Given the description of an element on the screen output the (x, y) to click on. 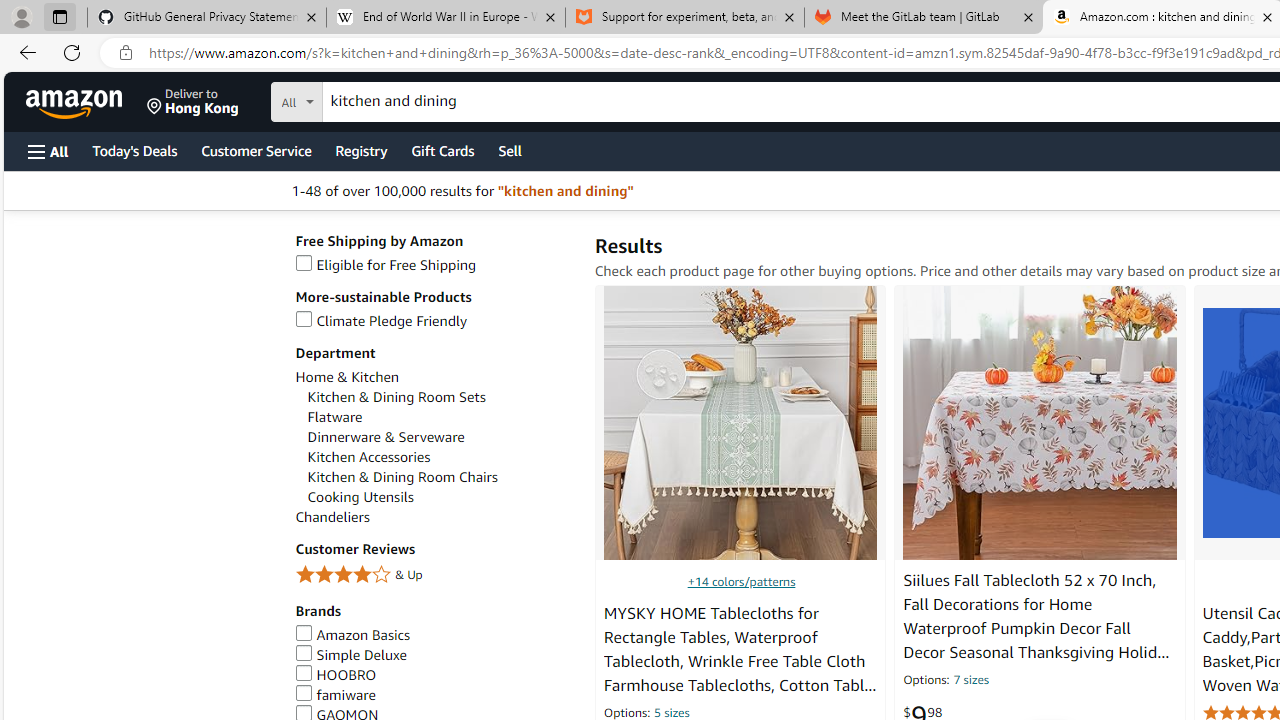
Amazon Basics (434, 635)
HOOBRO (335, 674)
7 sizes (970, 681)
Open Menu (48, 151)
Kitchen & Dining Room Sets (396, 397)
Kitchen & Dining Room Chairs (440, 477)
Dinnerware & Serveware (440, 437)
Customer Service (256, 150)
Today's Deals (134, 150)
End of World War II in Europe - Wikipedia (445, 17)
Kitchen Accessories (440, 457)
Dinnerware & Serveware (385, 437)
Cooking Utensils (360, 497)
